Given the description of an element on the screen output the (x, y) to click on. 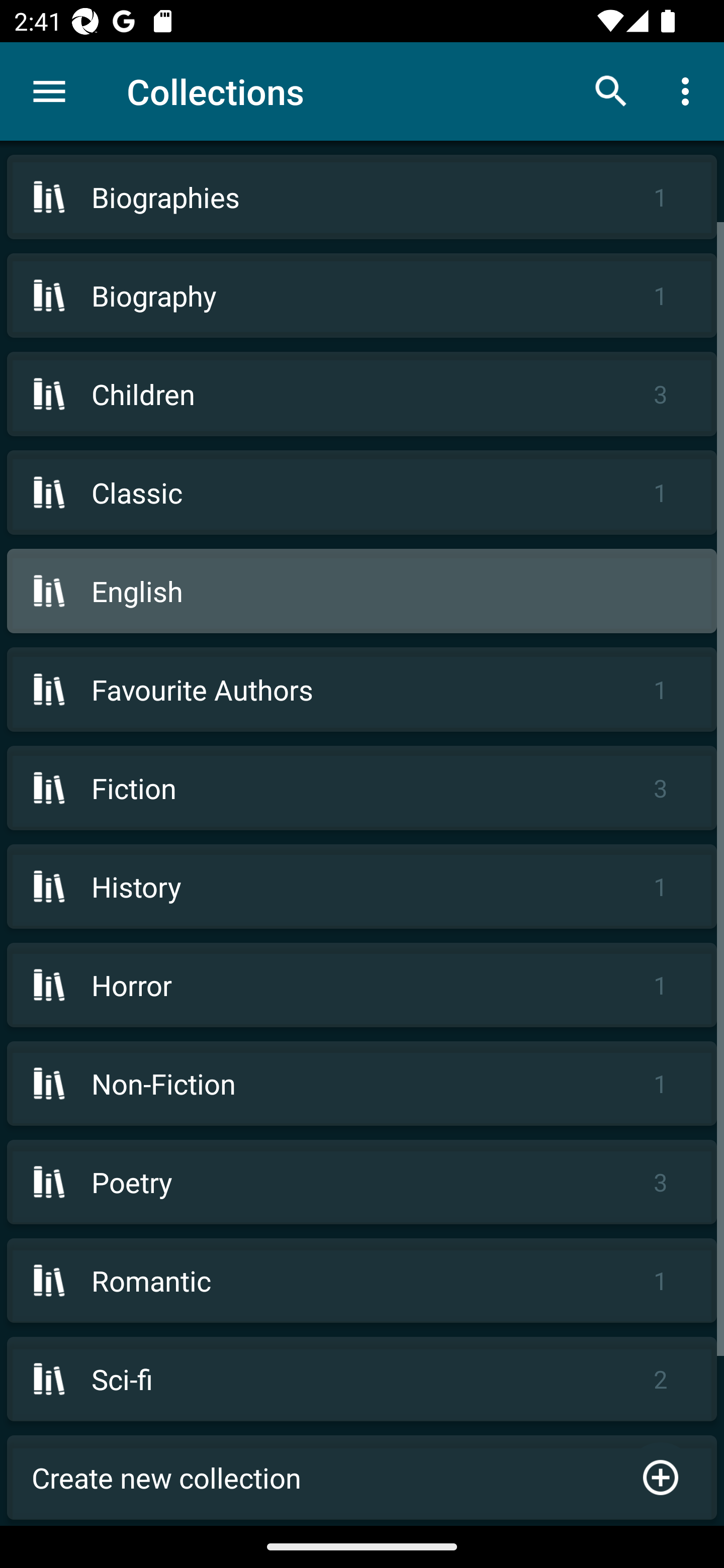
Menu (49, 91)
Search books & documents (611, 90)
More options (688, 90)
Biographies 1 (361, 197)
Biography 1 (361, 295)
Children 3 (361, 393)
Classic 1 (361, 492)
English (361, 590)
Favourite Authors 1 (361, 689)
Fiction 3 (361, 787)
History 1 (361, 885)
Horror 1 (361, 984)
Non-Fiction 1 (361, 1083)
Poetry 3 (361, 1181)
Romantic 1 (361, 1280)
Sci-fi 2 (361, 1378)
Create new collection (361, 1476)
